Given the description of an element on the screen output the (x, y) to click on. 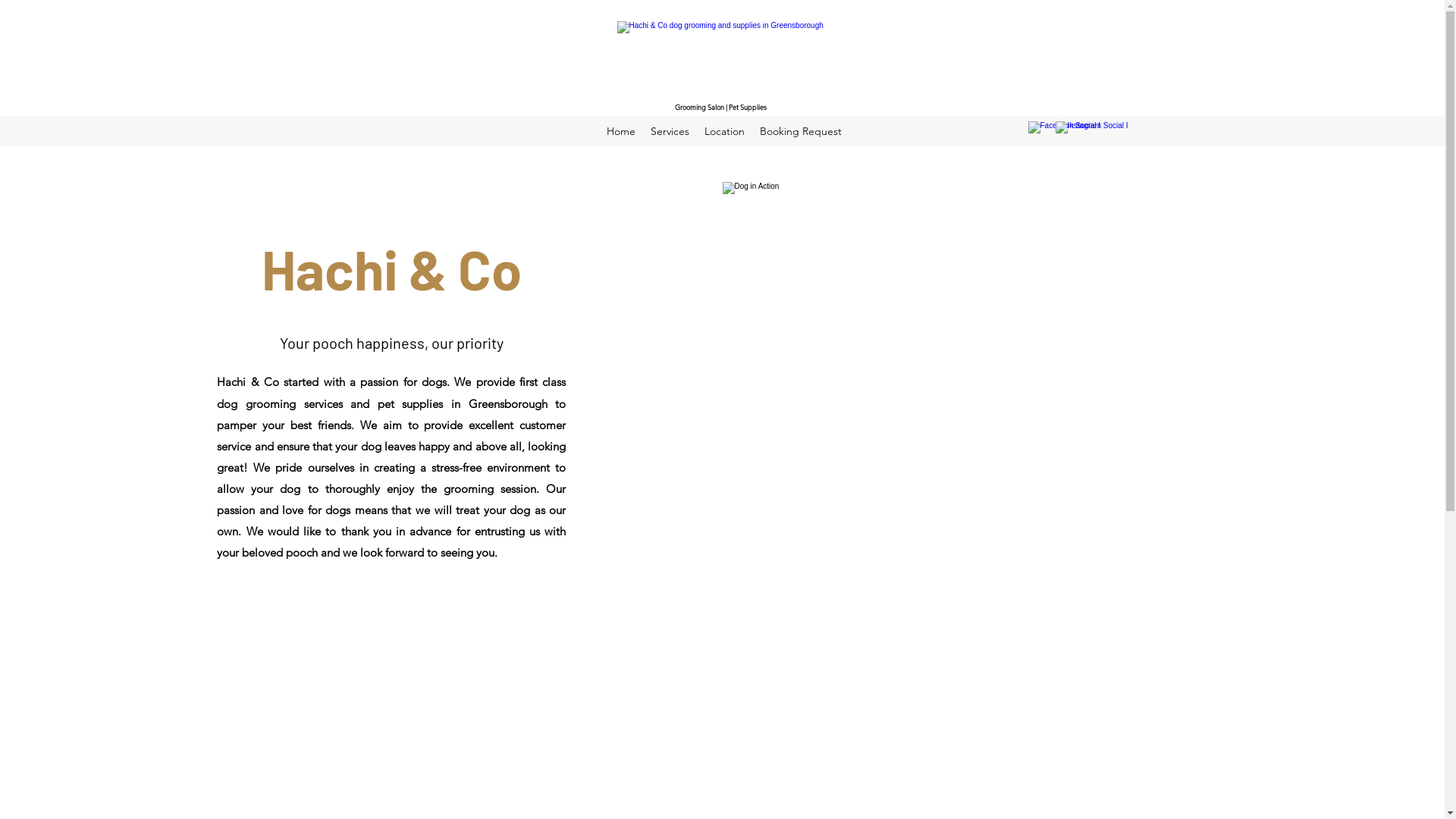
Booking Request Element type: text (800, 130)
Services Element type: text (669, 130)
Location Element type: text (723, 130)
Home Element type: text (621, 130)
Grooming Salon | Pet Supplies Element type: hover (721, 61)
